Given the description of an element on the screen output the (x, y) to click on. 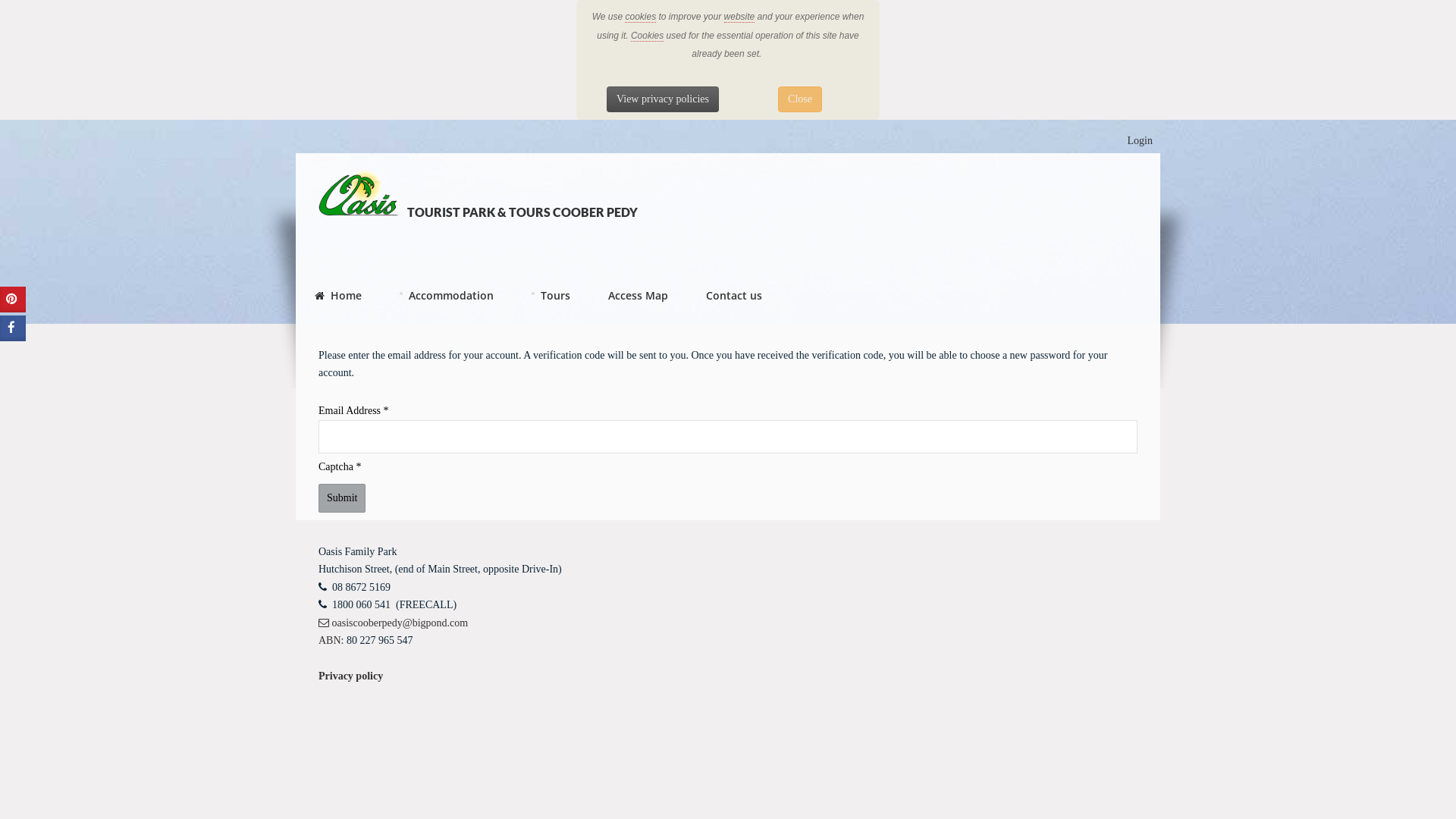
Close Element type: text (800, 99)
View privacy policies Element type: text (662, 99)
ABN: Element type: text (330, 640)
oasiscooberpedy@bigpond.com Element type: text (392, 622)
Login Element type: text (1139, 140)
Submit Element type: text (341, 497)
Access Map Element type: text (638, 297)
Contact us Element type: text (734, 297)
Home Element type: text (337, 297)
Privacy policy Element type: text (350, 675)
